Given the description of an element on the screen output the (x, y) to click on. 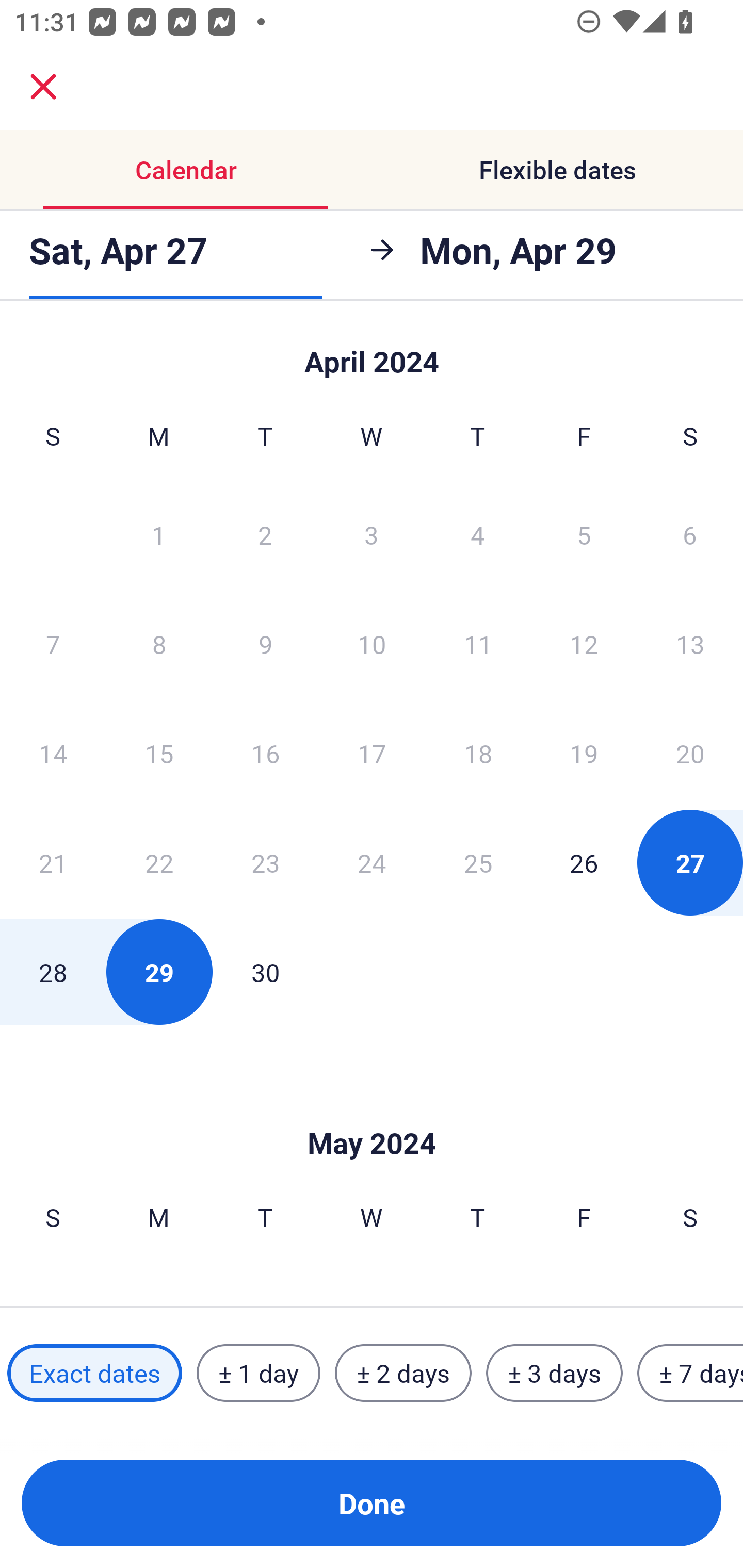
close. (43, 86)
Flexible dates (557, 170)
Skip to Done (371, 352)
1 Monday, April 1, 2024 (158, 534)
2 Tuesday, April 2, 2024 (264, 534)
3 Wednesday, April 3, 2024 (371, 534)
4 Thursday, April 4, 2024 (477, 534)
5 Friday, April 5, 2024 (583, 534)
6 Saturday, April 6, 2024 (689, 534)
7 Sunday, April 7, 2024 (53, 643)
8 Monday, April 8, 2024 (159, 643)
9 Tuesday, April 9, 2024 (265, 643)
10 Wednesday, April 10, 2024 (371, 643)
11 Thursday, April 11, 2024 (477, 643)
12 Friday, April 12, 2024 (584, 643)
13 Saturday, April 13, 2024 (690, 643)
14 Sunday, April 14, 2024 (53, 752)
15 Monday, April 15, 2024 (159, 752)
16 Tuesday, April 16, 2024 (265, 752)
17 Wednesday, April 17, 2024 (371, 752)
18 Thursday, April 18, 2024 (477, 752)
19 Friday, April 19, 2024 (584, 752)
20 Saturday, April 20, 2024 (690, 752)
21 Sunday, April 21, 2024 (53, 862)
22 Monday, April 22, 2024 (159, 862)
23 Tuesday, April 23, 2024 (265, 862)
24 Wednesday, April 24, 2024 (371, 862)
25 Thursday, April 25, 2024 (477, 862)
26 Friday, April 26, 2024 (584, 862)
30 Tuesday, April 30, 2024 (265, 971)
Skip to Done (371, 1112)
Exact dates (94, 1372)
± 1 day (258, 1372)
± 2 days (403, 1372)
± 3 days (553, 1372)
± 7 days (690, 1372)
Done (371, 1502)
